Given the description of an element on the screen output the (x, y) to click on. 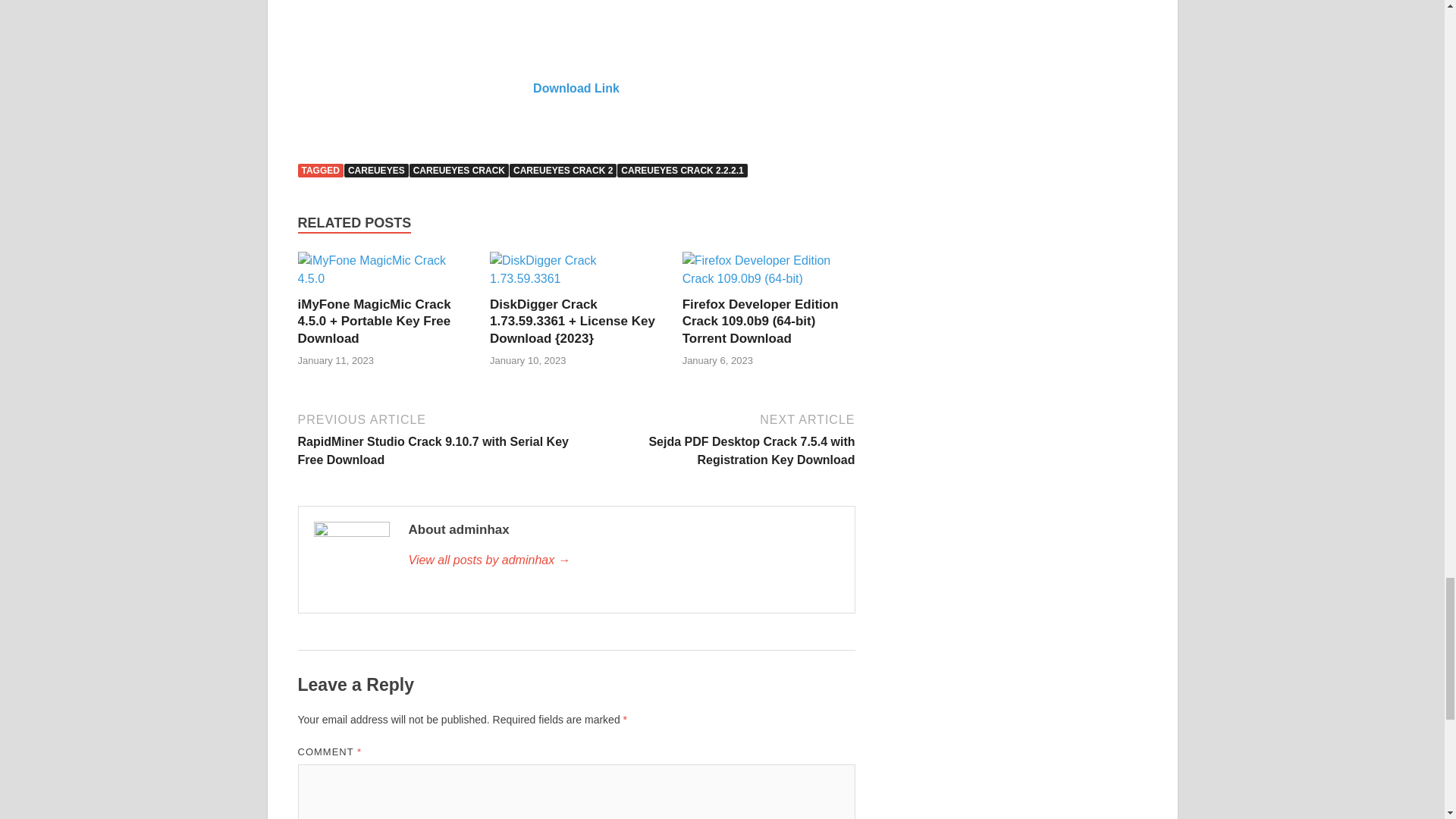
CAREUEYES (376, 170)
Download Link (576, 88)
adminhax (622, 560)
CAREUEYES CRACK (458, 170)
CareUEyes pro crack, screen dimmer pro version (575, 27)
CAREUEYES CRACK 2 (562, 170)
CAREUEYES CRACK 2.2.2.1 (681, 170)
